Given the description of an element on the screen output the (x, y) to click on. 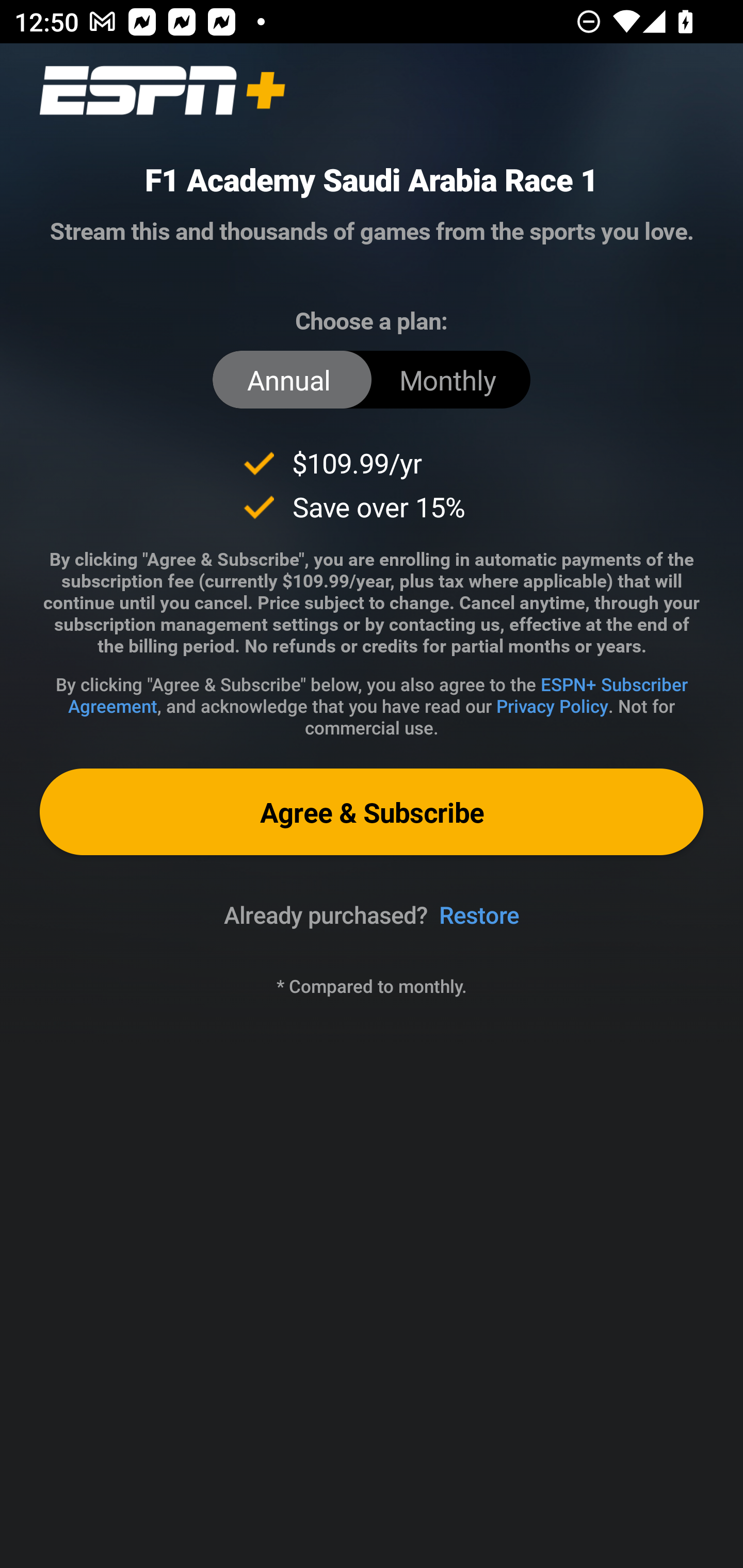
Agree & Subscribe (371, 811)
